Given the description of an element on the screen output the (x, y) to click on. 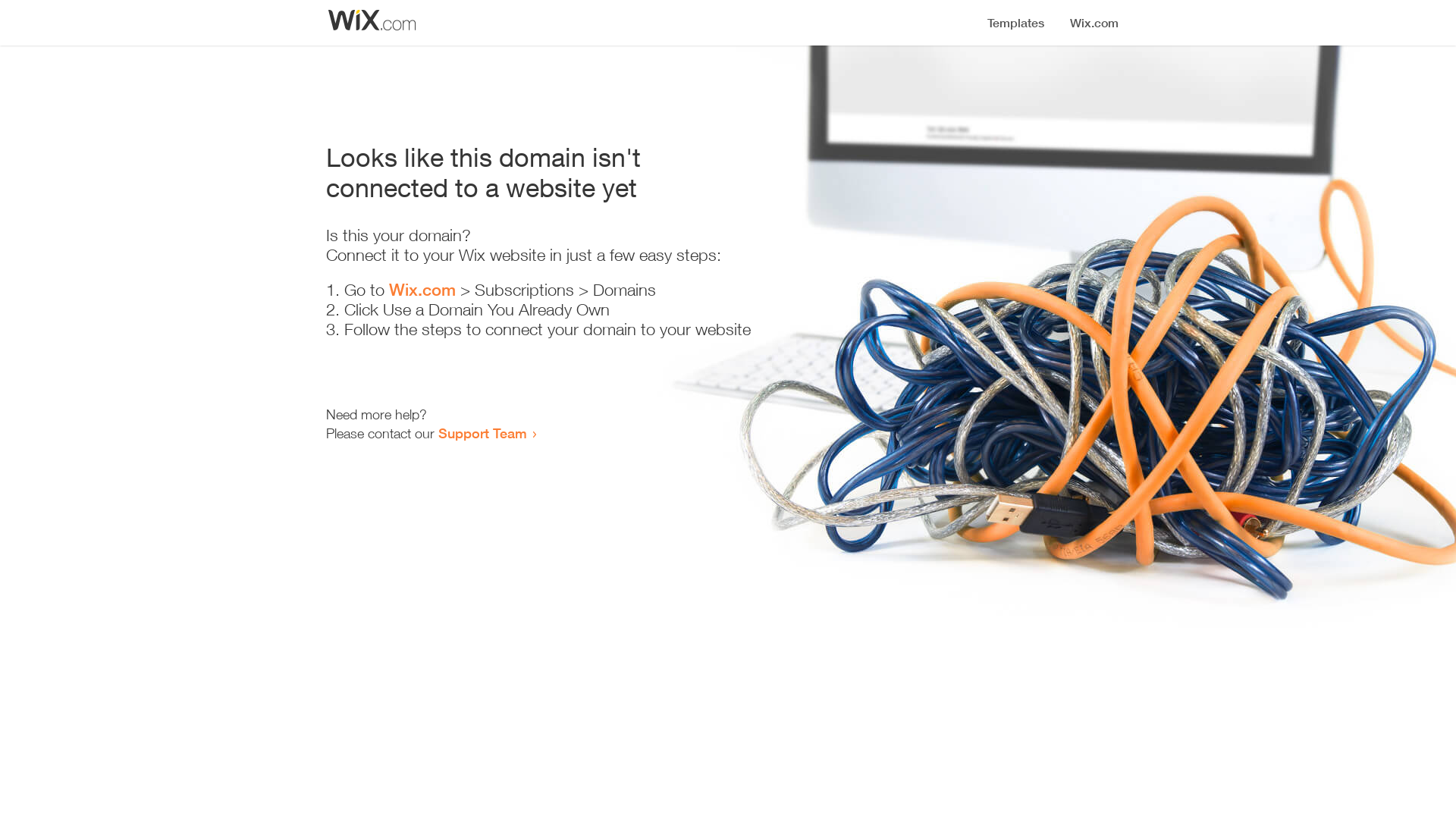
Wix.com Element type: text (422, 289)
Support Team Element type: text (482, 432)
